Given the description of an element on the screen output the (x, y) to click on. 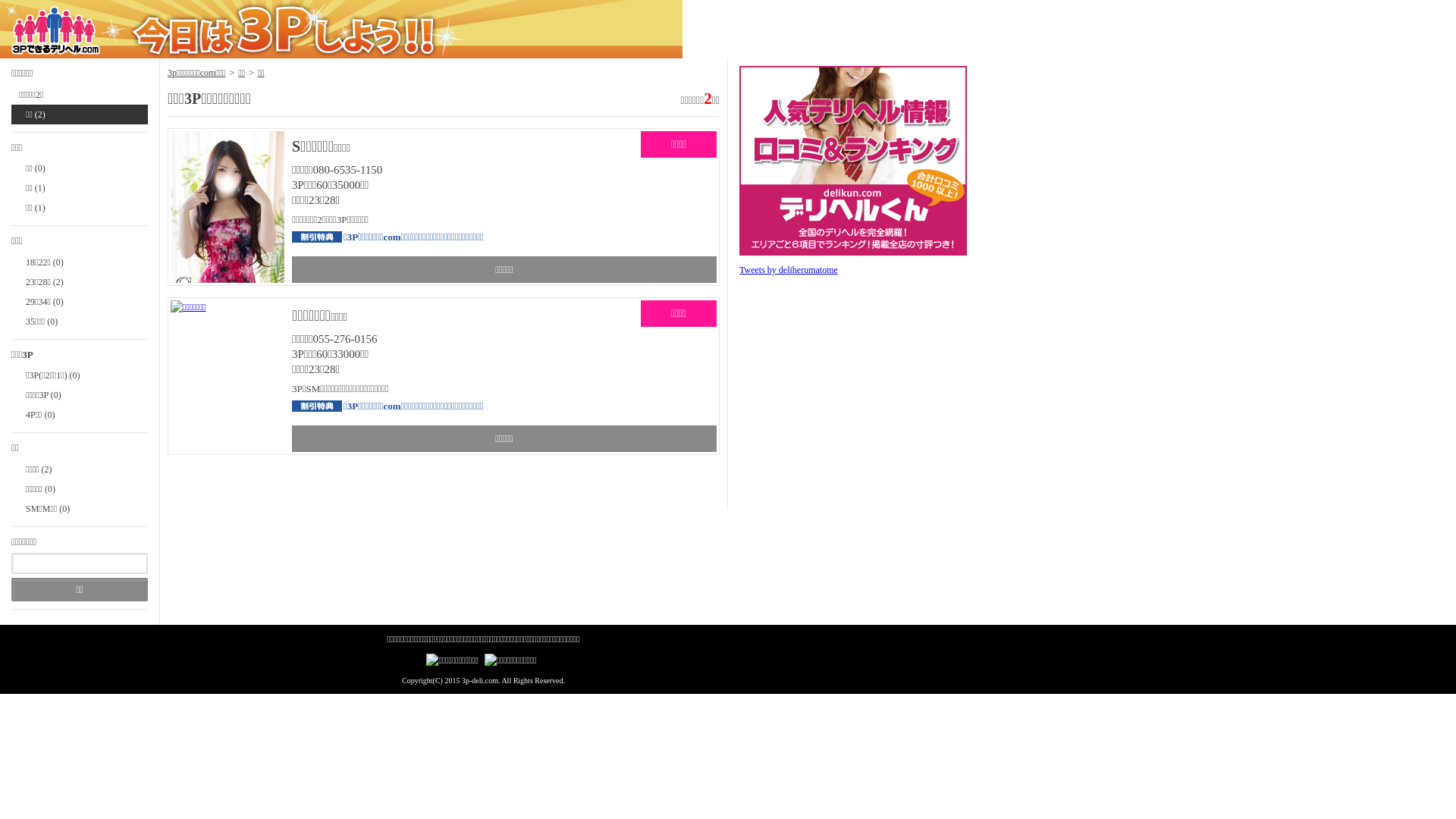
Tweets by deliherumatome Element type: text (788, 269)
